Given the description of an element on the screen output the (x, y) to click on. 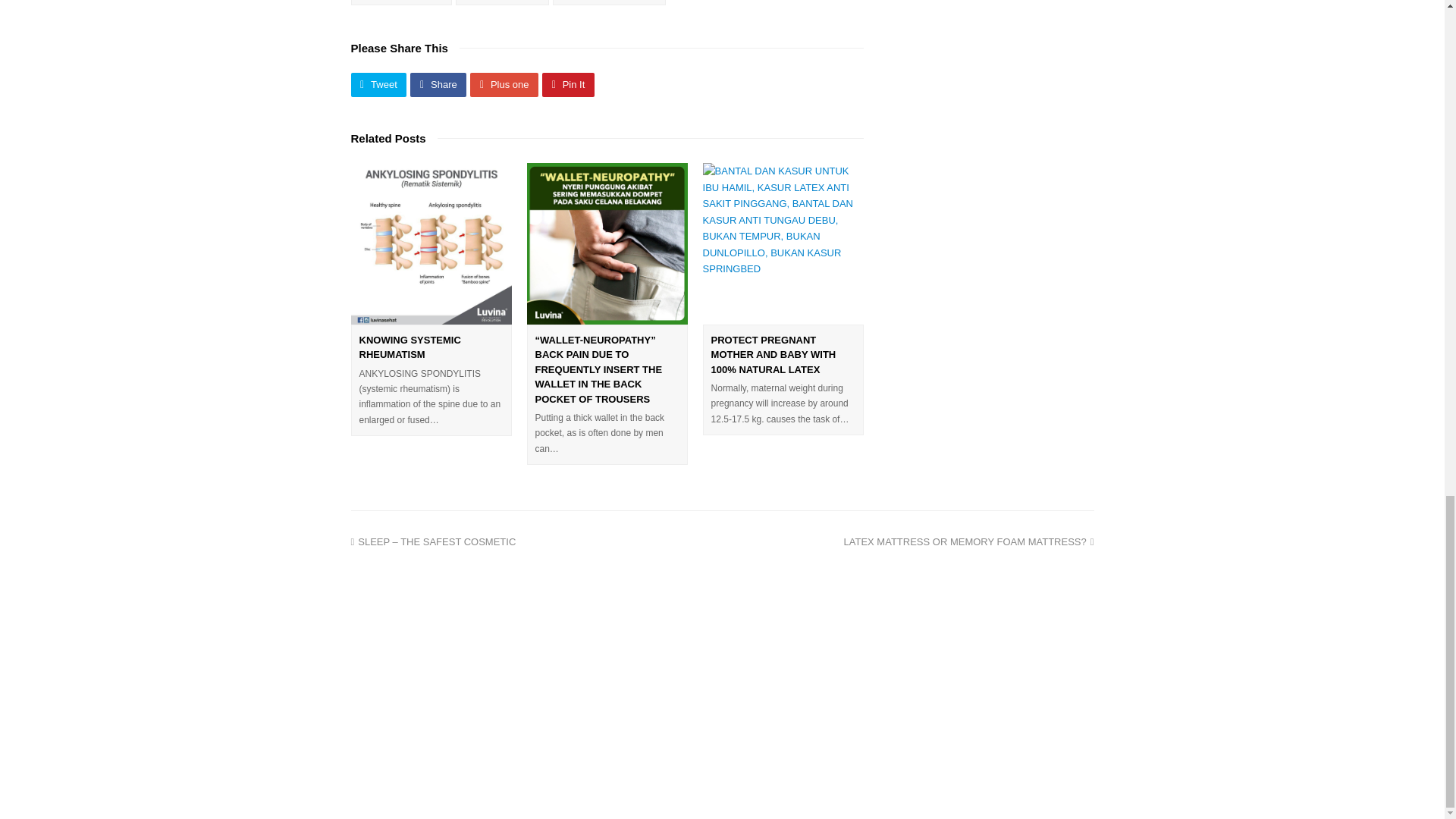
Share on Facebook (437, 84)
SAKIT PINGGANG (400, 2)
KNOWING SYSTEMIC RHEUMATISM (410, 347)
SARAF KEJEPIT (501, 2)
Tweet (378, 84)
Share (437, 84)
Share on Pinterest (567, 84)
TULANG BELAKANG (609, 2)
KNOWING SYSTEMIC RHEUMATISM (430, 242)
KNOWING SYSTEMIC RHEUMATISM (410, 347)
Share on Twitter (378, 84)
Pin It (567, 84)
Plus one (504, 84)
